Given the description of an element on the screen output the (x, y) to click on. 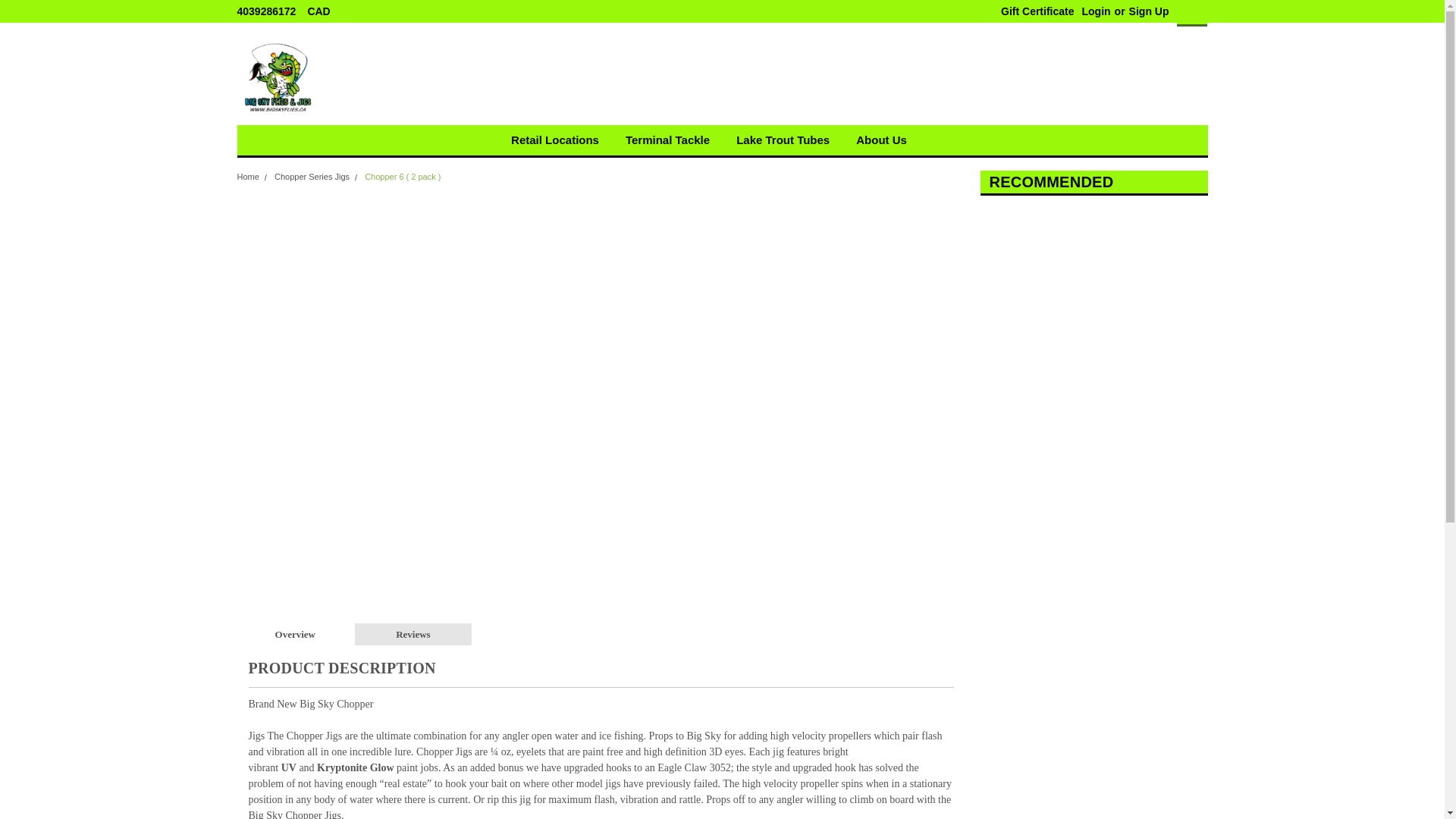
Gift Certificate (1033, 11)
Sign Up (1147, 11)
Login (1095, 11)
. (478, 75)
Currency Selector (323, 11)
CAD (323, 11)
